Given the description of an element on the screen output the (x, y) to click on. 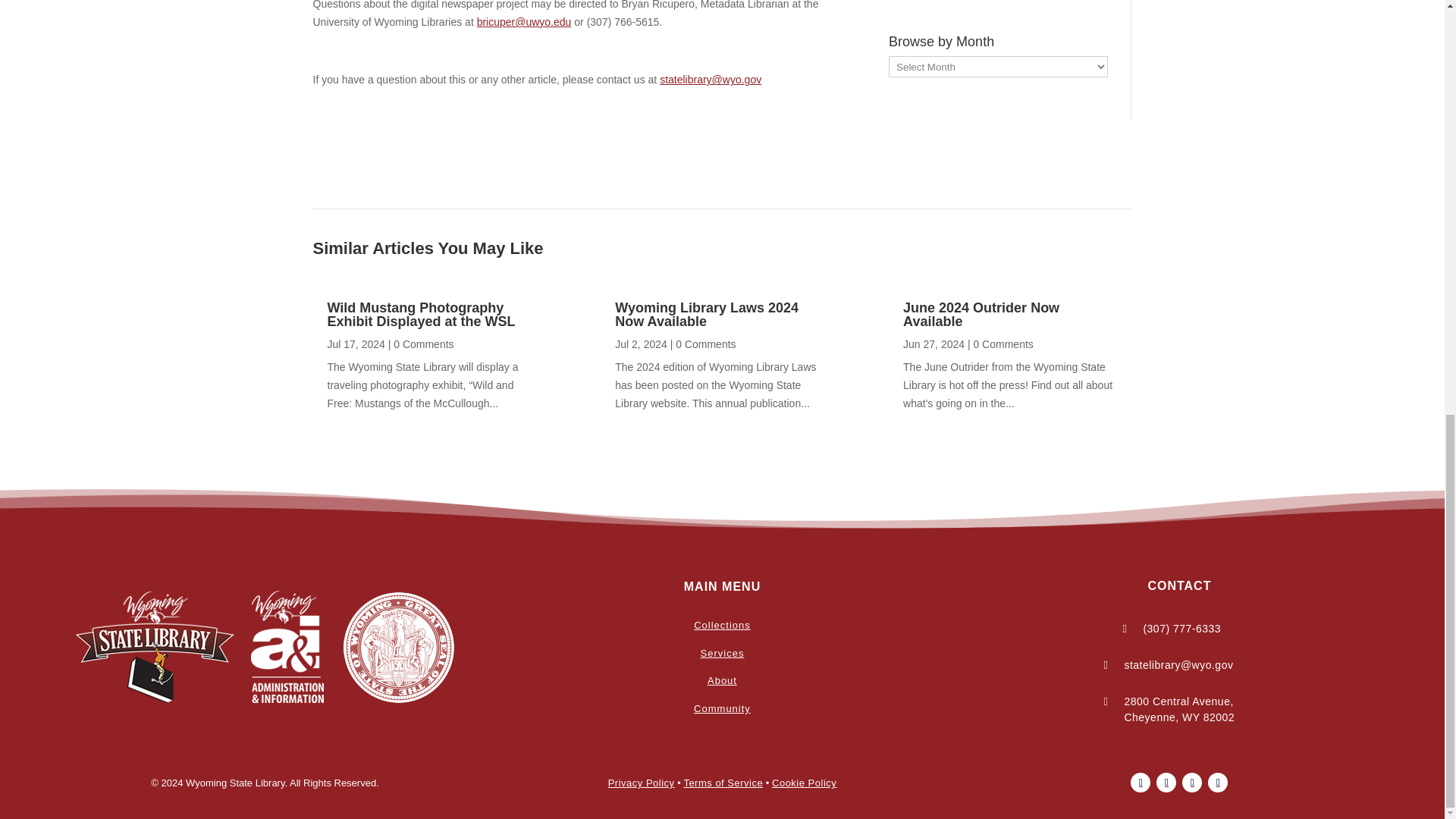
footer-logos (264, 647)
Follow on Facebook (1140, 782)
Follow on X (1166, 782)
Follow on LinkedIn (1217, 782)
Follow on Youtube (1192, 782)
